Given the description of an element on the screen output the (x, y) to click on. 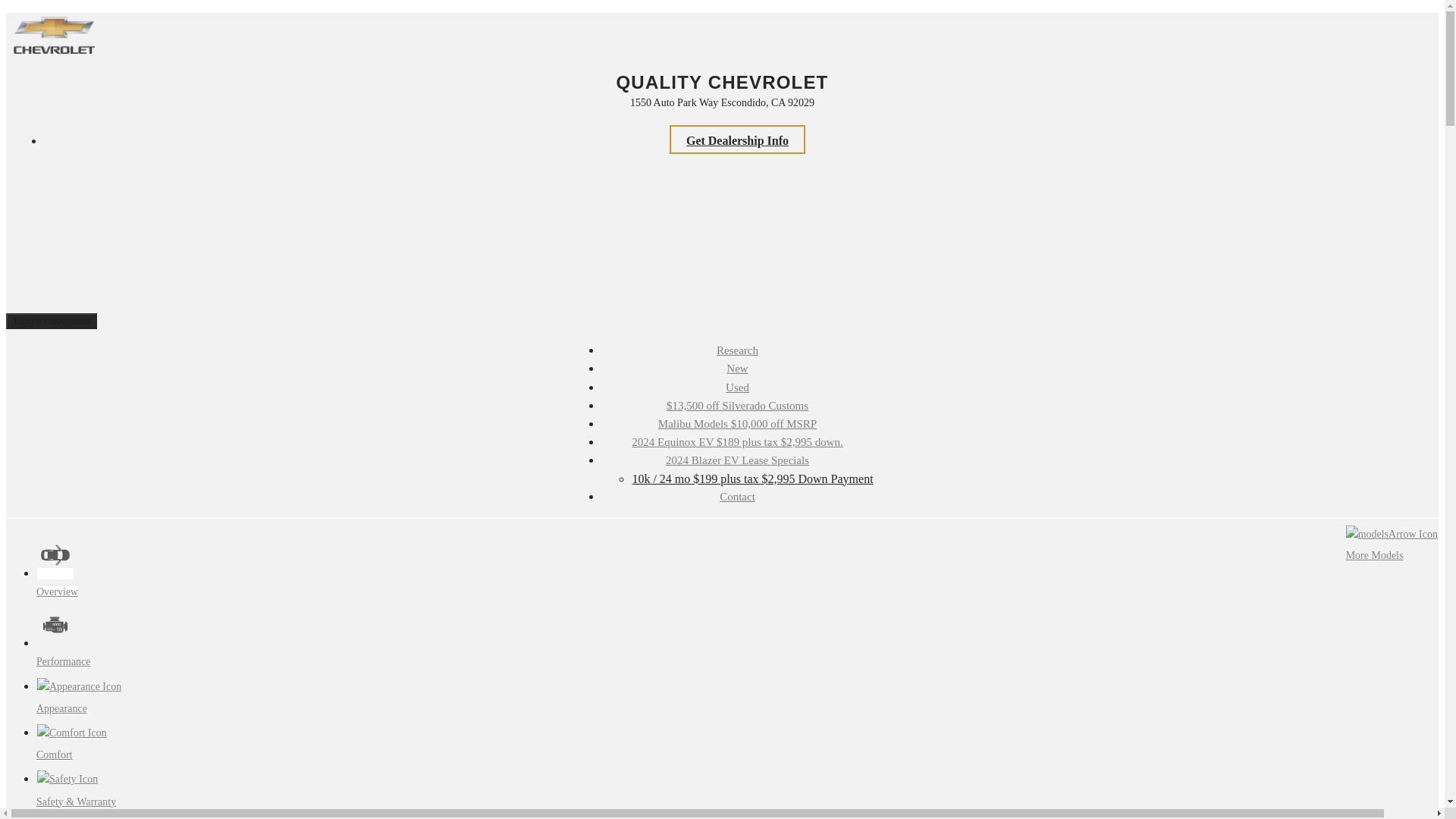
Used (737, 388)
Get Dealership Info (737, 139)
Contact (737, 497)
2024 Blazer EV Lease Specials (737, 460)
Toggle navigation (51, 320)
New (737, 369)
Research (737, 351)
More Models (1391, 544)
Appearance (78, 697)
Comfort (71, 743)
